Given the description of an element on the screen output the (x, y) to click on. 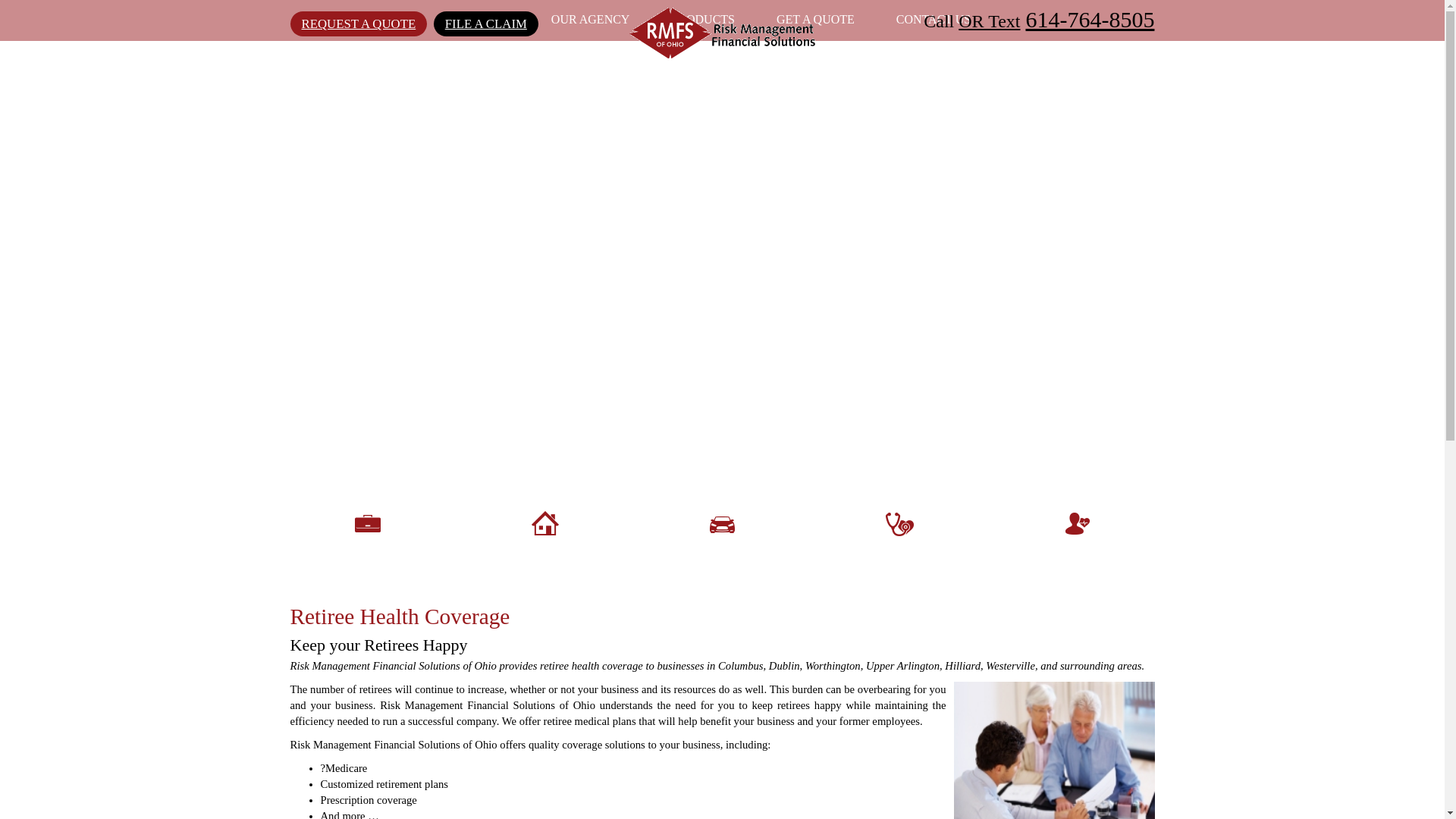
614-764-8505 (1089, 18)
FILE A CLAIM (485, 23)
HOME (491, 18)
REQUEST A QUOTE (357, 23)
OUR AGENCY (590, 18)
